Given the description of an element on the screen output the (x, y) to click on. 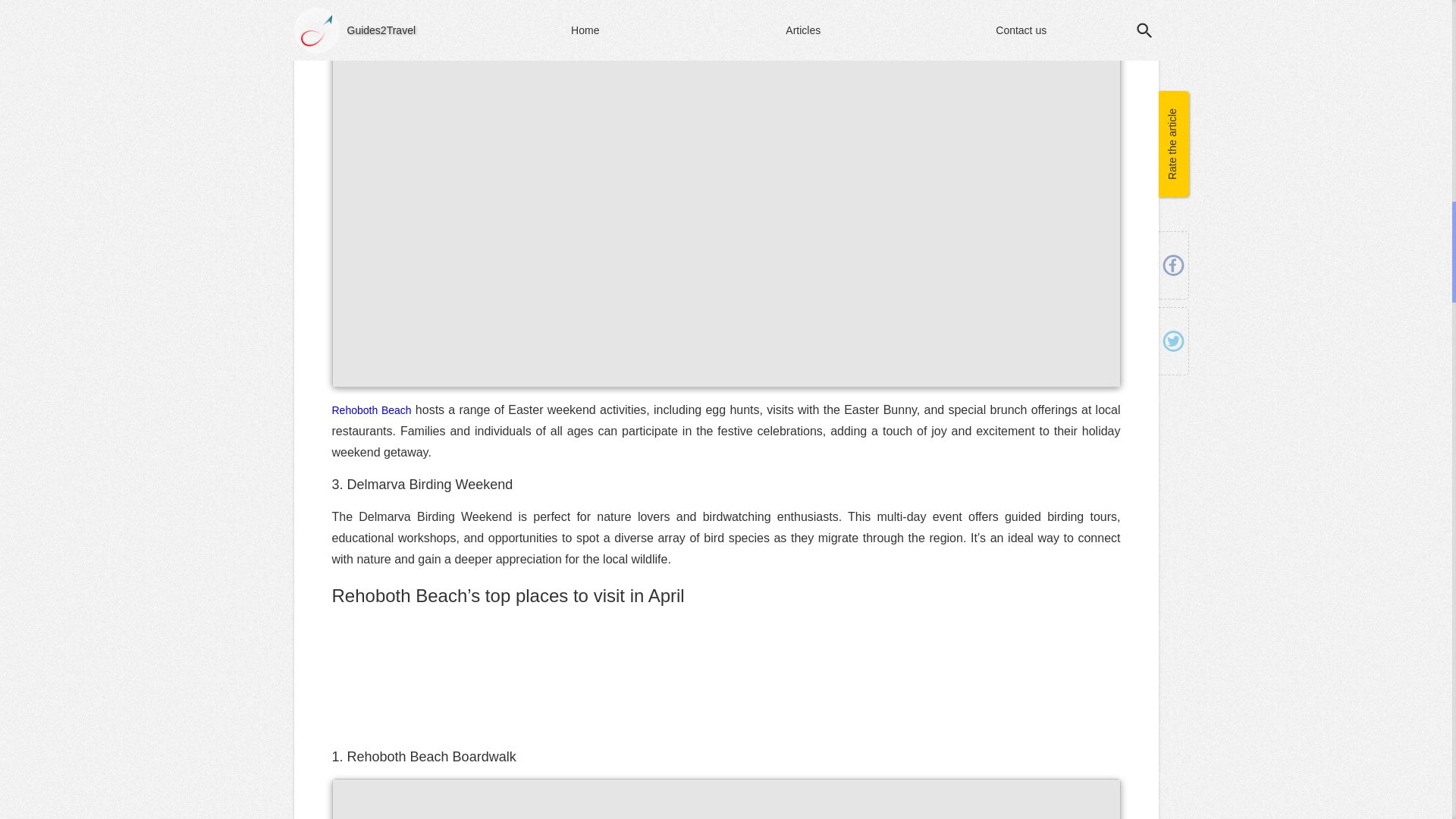
GetYourGuide Widget (726, 678)
Rehoboth Beach (371, 410)
